Given the description of an element on the screen output the (x, y) to click on. 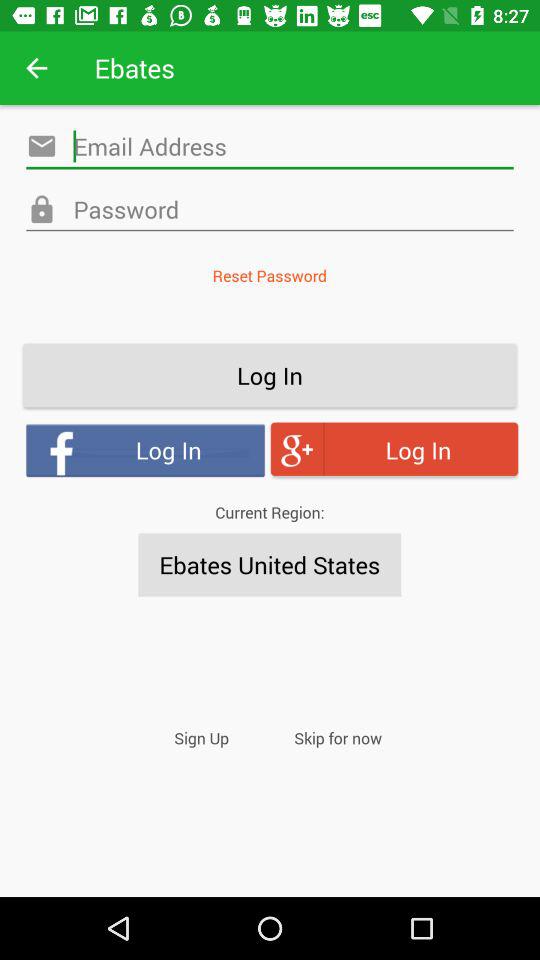
press icon to the right of the sign up item (337, 737)
